Given the description of an element on the screen output the (x, y) to click on. 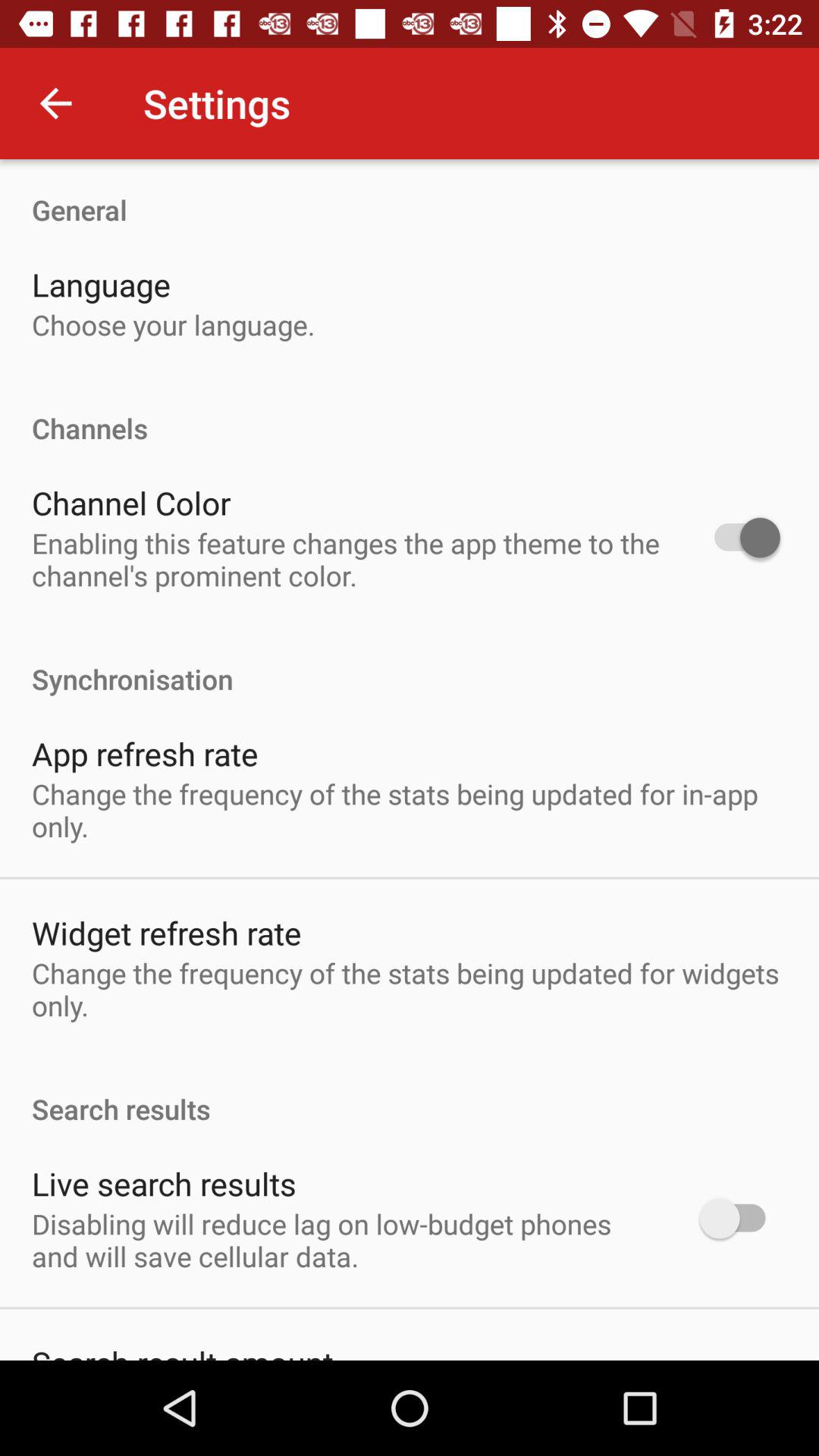
flip to the channels item (409, 412)
